Given the description of an element on the screen output the (x, y) to click on. 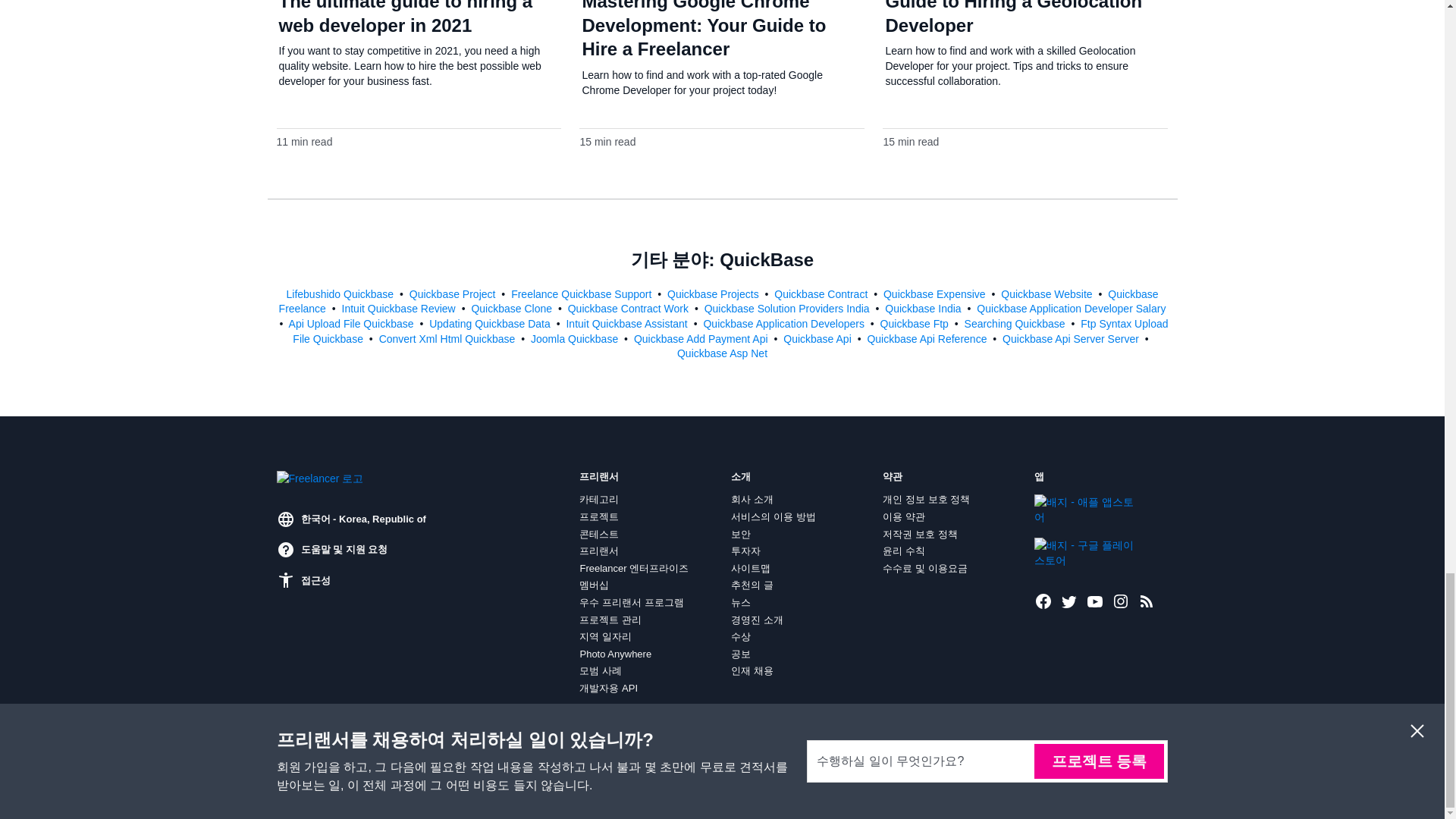
Quickbase Expensive (935, 294)
Guide to Hiring a Geolocation Developer (1013, 18)
Lifebushido Quickbase (340, 294)
Freelance Quickbase Support (582, 294)
Quickbase Contract (822, 294)
Quickbase Project (454, 294)
Quickbase Projects (713, 294)
The ultimate guide to hiring a web developer in 2021 (405, 18)
